Given the description of an element on the screen output the (x, y) to click on. 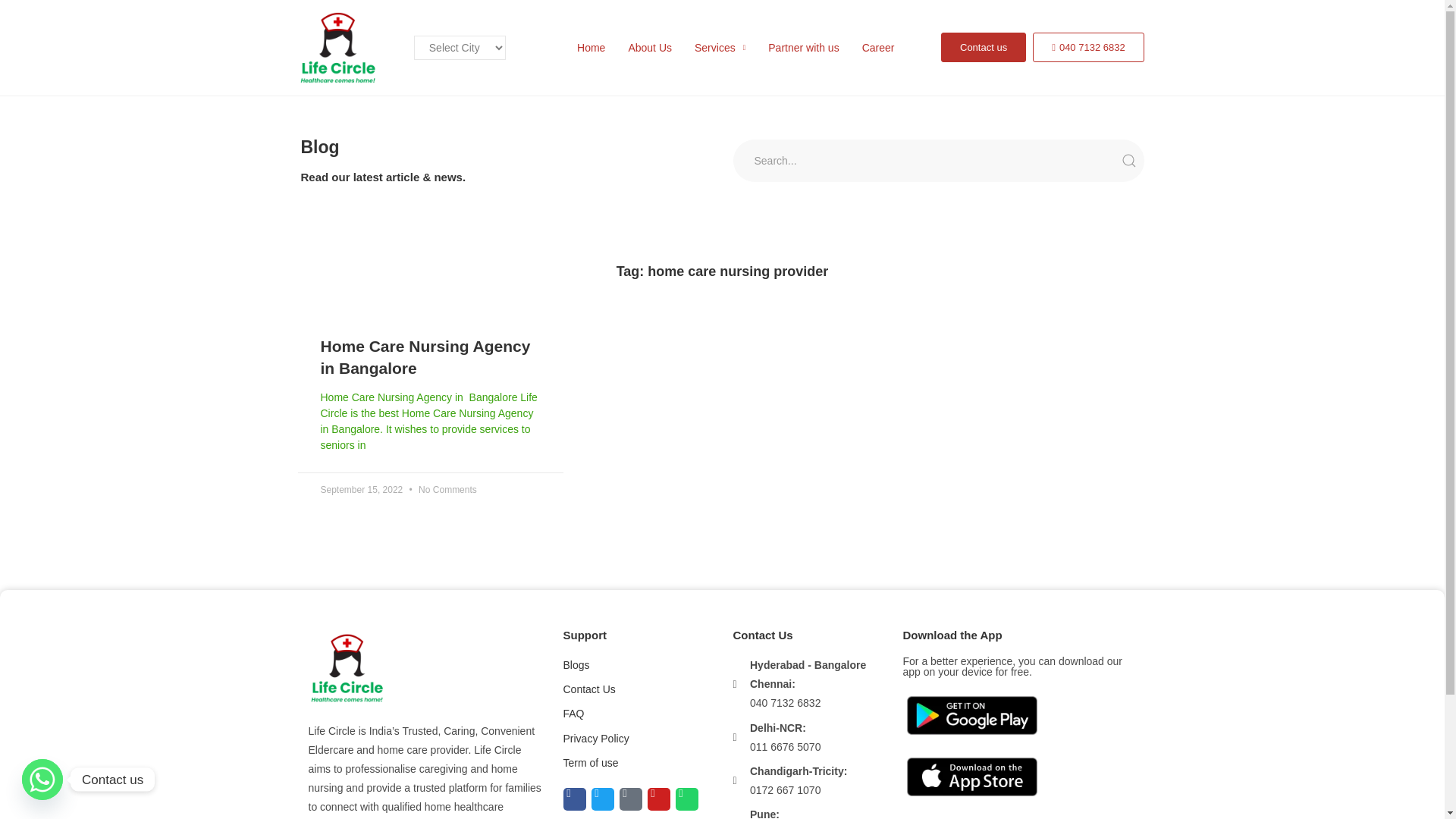
Partner with us (803, 47)
Career (878, 47)
Services (719, 47)
Home (590, 47)
040 7132 6832 (1088, 47)
Contact us (983, 47)
Search (937, 160)
About Us (649, 47)
